Given the description of an element on the screen output the (x, y) to click on. 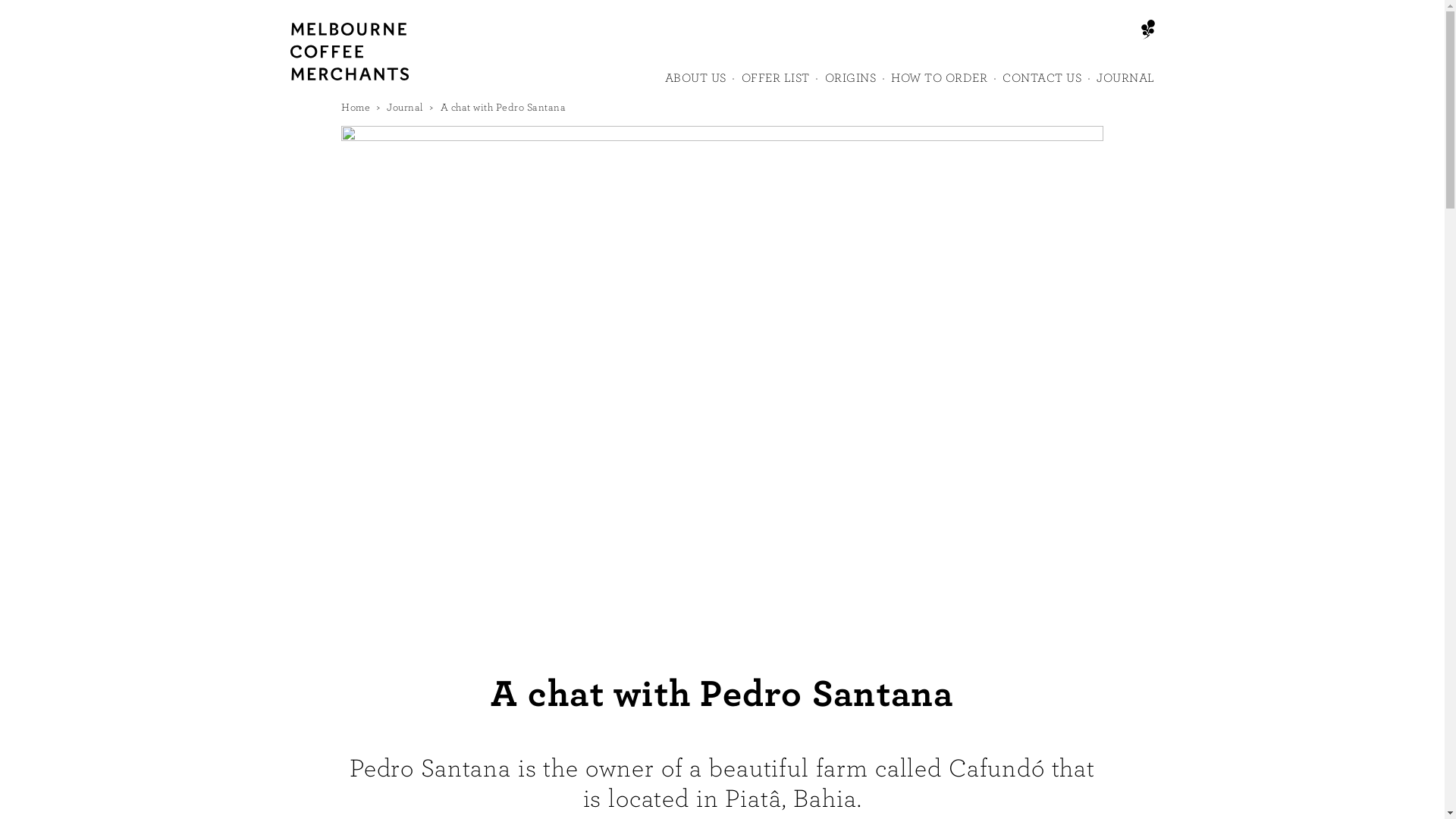
ORIGINS Element type: text (850, 84)
CONTACT US Element type: text (1041, 84)
OFFER LIST Element type: text (775, 84)
Journal Element type: text (404, 107)
ABOUT US Element type: text (694, 84)
JOURNAL Element type: text (1125, 84)
Home Element type: text (355, 107)
A chat with Pedro Santana Element type: text (502, 107)
HOW TO ORDER Element type: text (939, 84)
